Given the description of an element on the screen output the (x, y) to click on. 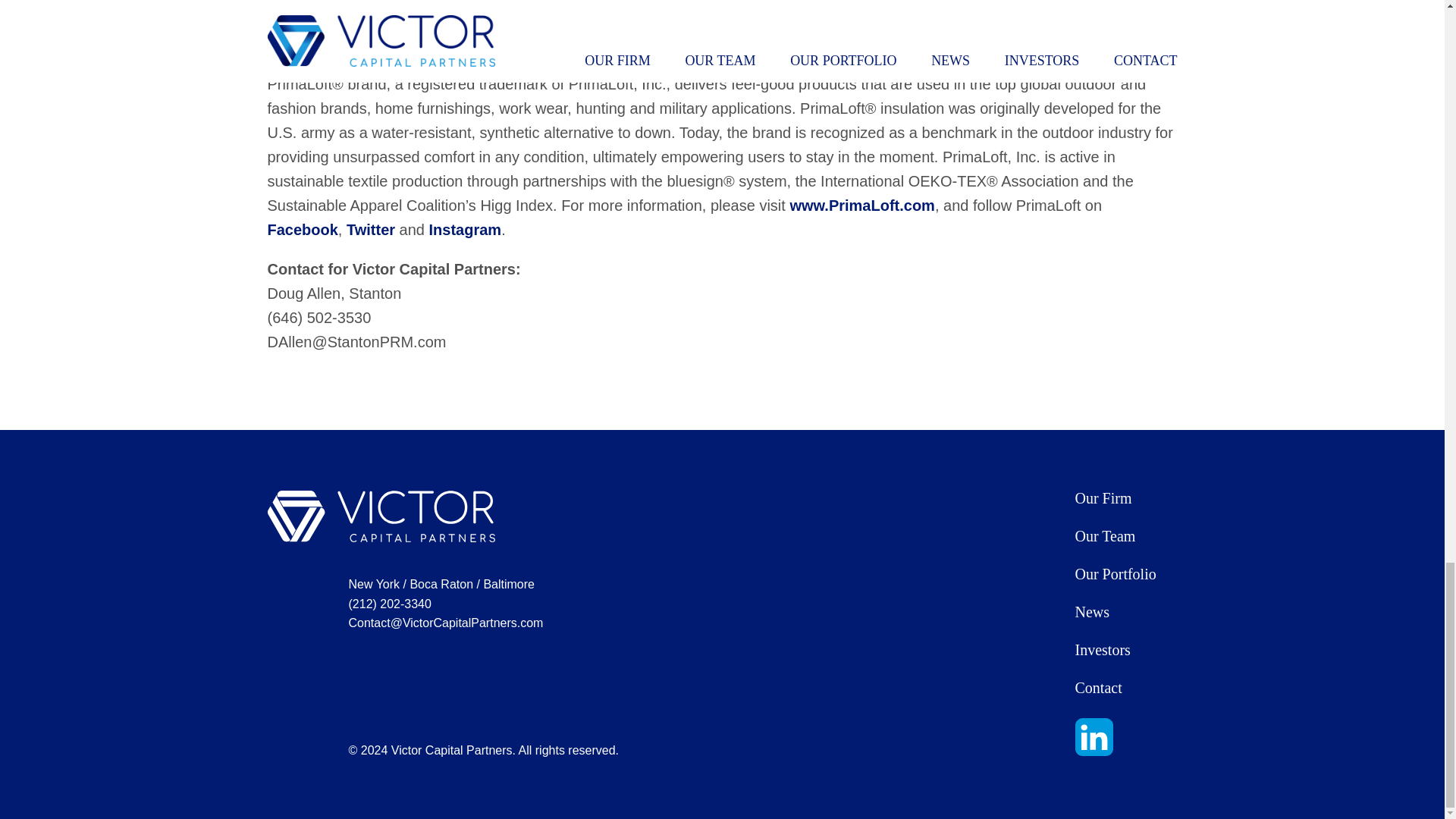
News (1092, 611)
www.PrimaLoft.com (861, 205)
Investors (1103, 649)
Contact (1098, 687)
Facebook (301, 229)
Instagram (465, 229)
Our Firm (1103, 497)
Our Portfolio (1115, 573)
Our Team (1105, 535)
Twitter (370, 229)
